Given the description of an element on the screen output the (x, y) to click on. 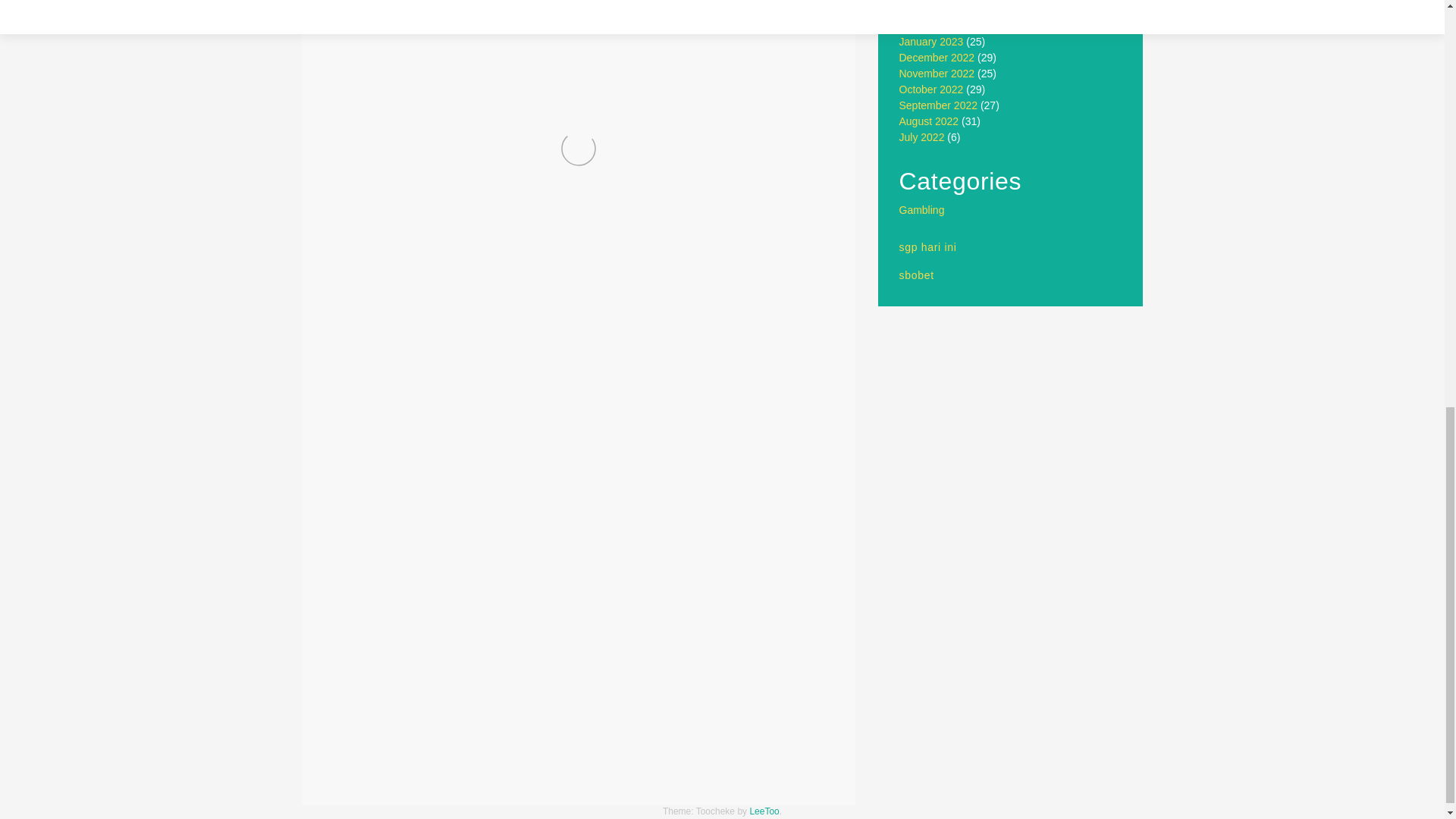
 A Review of Pragmatic Play Online Slots (447, 771)
SBOBET Sportsbook Review  (738, 771)
August 2022 (929, 121)
February 2023 (933, 25)
September 2022 (938, 105)
January 2023 (931, 41)
July 2022 (921, 137)
October 2022 (931, 89)
November 2022 (937, 73)
Gambling (921, 209)
